Given the description of an element on the screen output the (x, y) to click on. 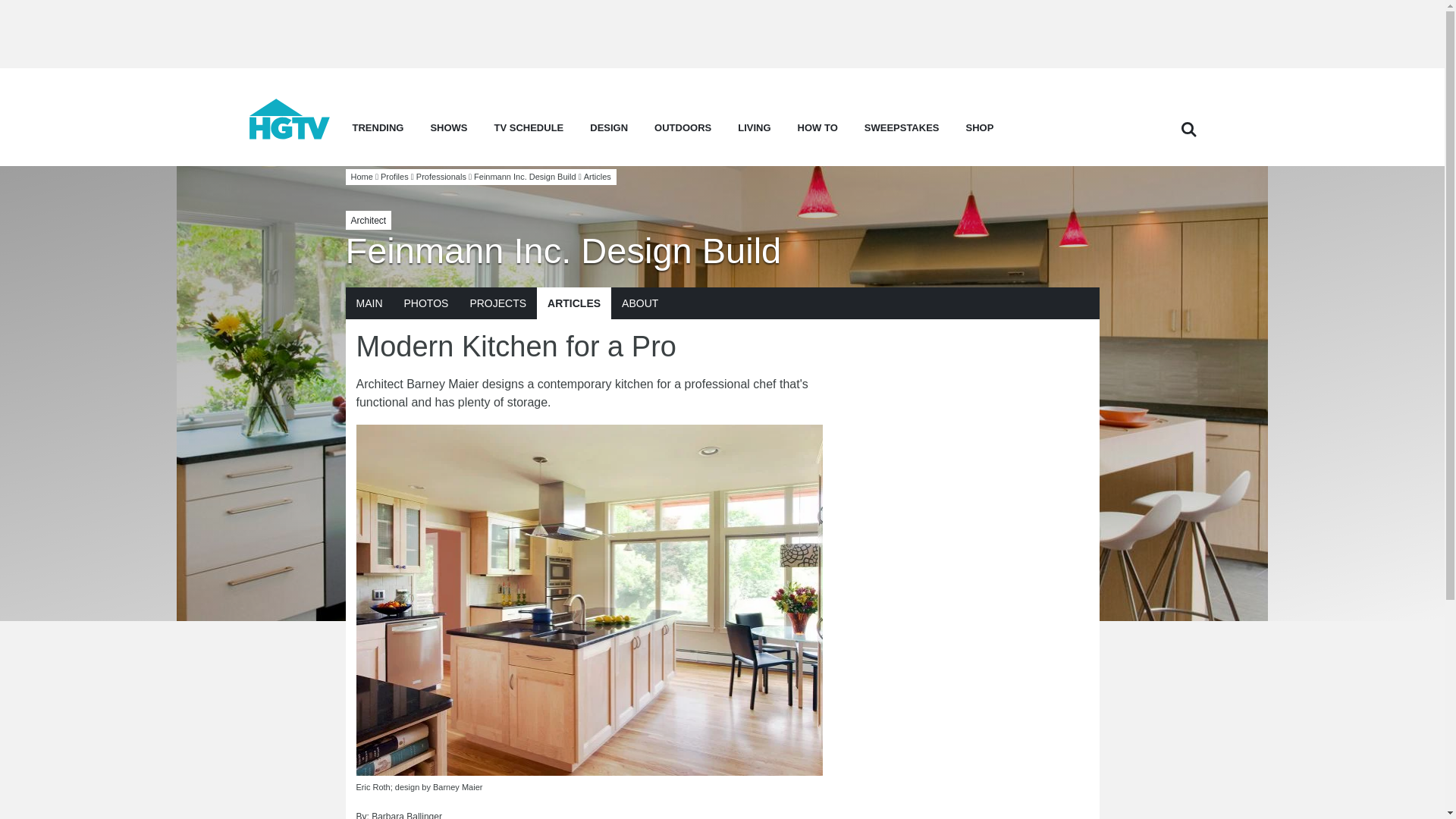
home (289, 135)
